Given the description of an element on the screen output the (x, y) to click on. 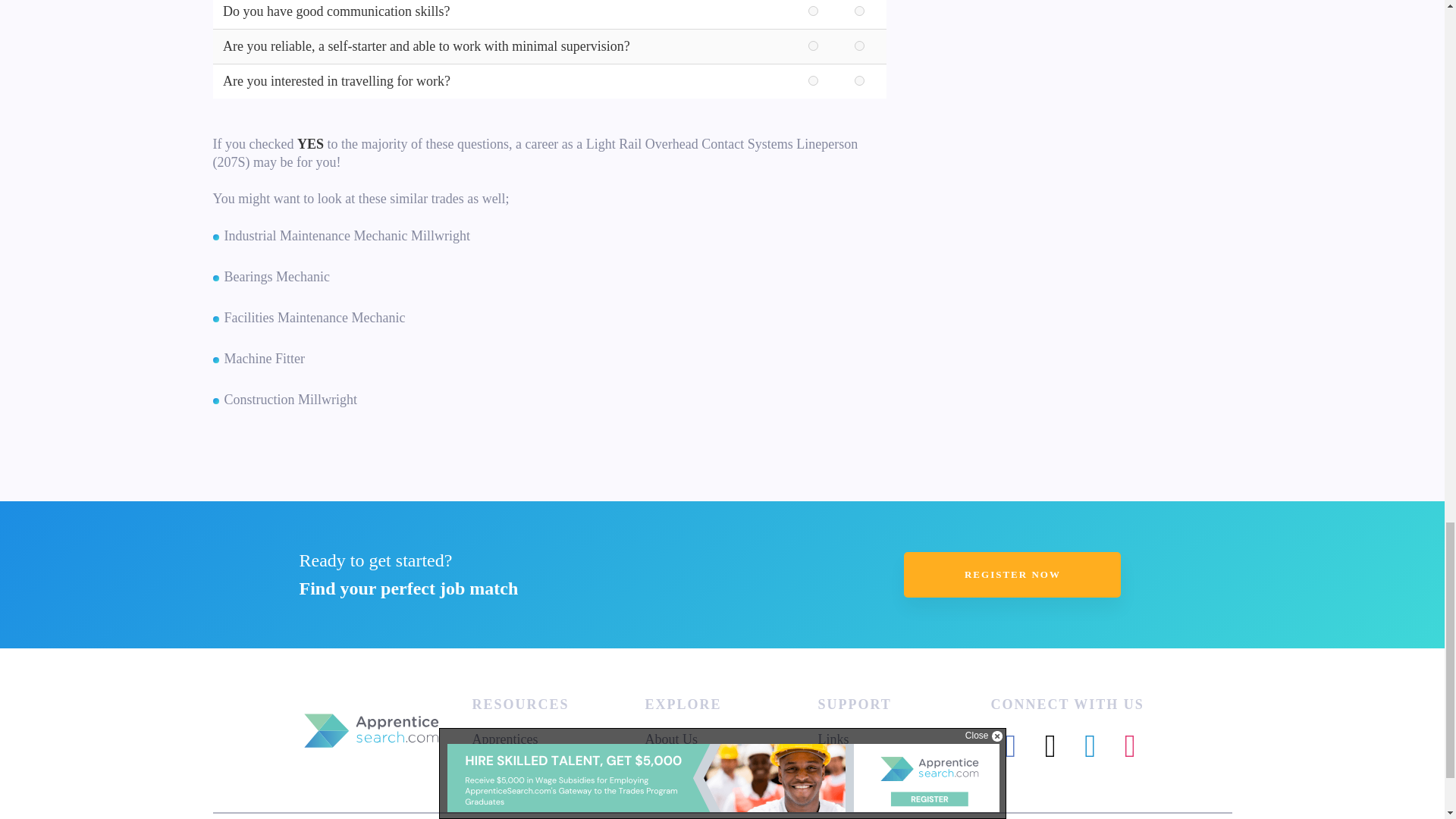
on (858, 45)
Apprentices (504, 739)
on (858, 80)
Employers (501, 757)
on (858, 10)
REGISTER NOW (1012, 574)
on (813, 10)
FAQS (833, 757)
on (813, 45)
About Us (671, 739)
